Given the description of an element on the screen output the (x, y) to click on. 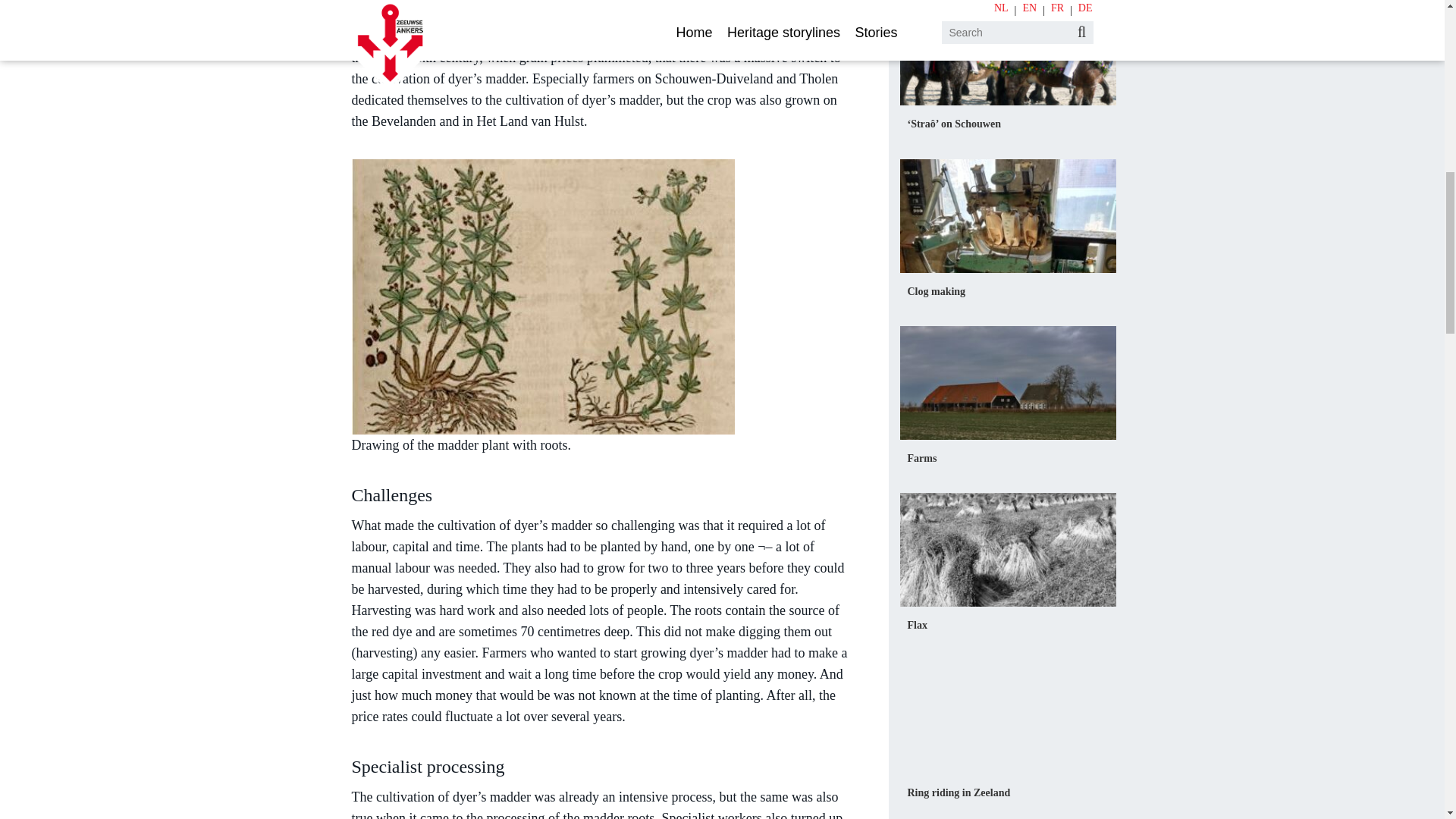
Ring riding in Zeeland (958, 792)
Flax (916, 624)
Farms (921, 458)
Clog making (936, 291)
